Given the description of an element on the screen output the (x, y) to click on. 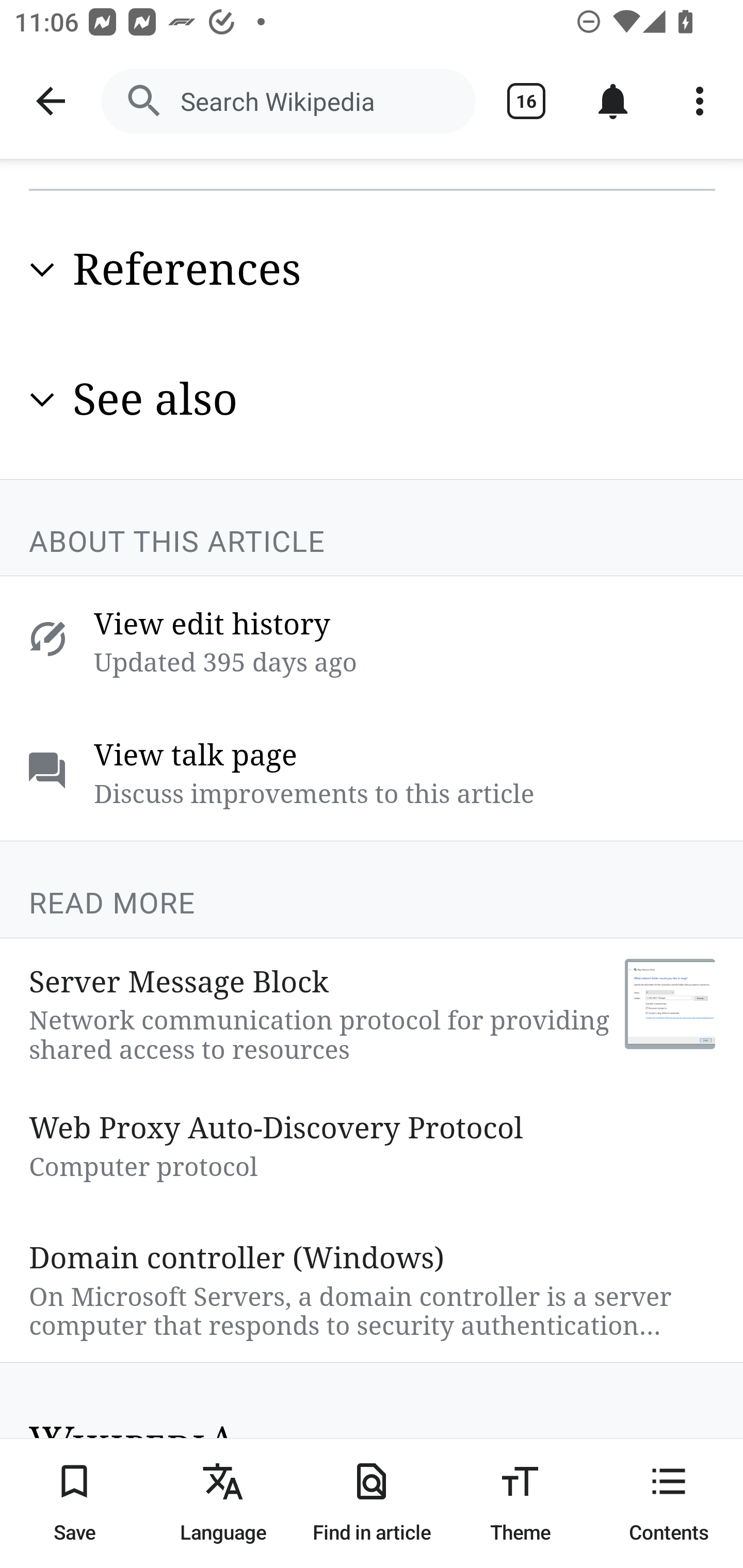
Show tabs 16 (525, 100)
Notifications (612, 100)
Navigate up (50, 101)
More options (699, 101)
Search Wikipedia (288, 100)
Expand section References (372, 269)
Expand section (41, 270)
Expand section See also (372, 399)
Expand section (41, 398)
Save (74, 1502)
Language (222, 1502)
Find in article (371, 1502)
Theme (519, 1502)
Contents (668, 1502)
